Given the description of an element on the screen output the (x, y) to click on. 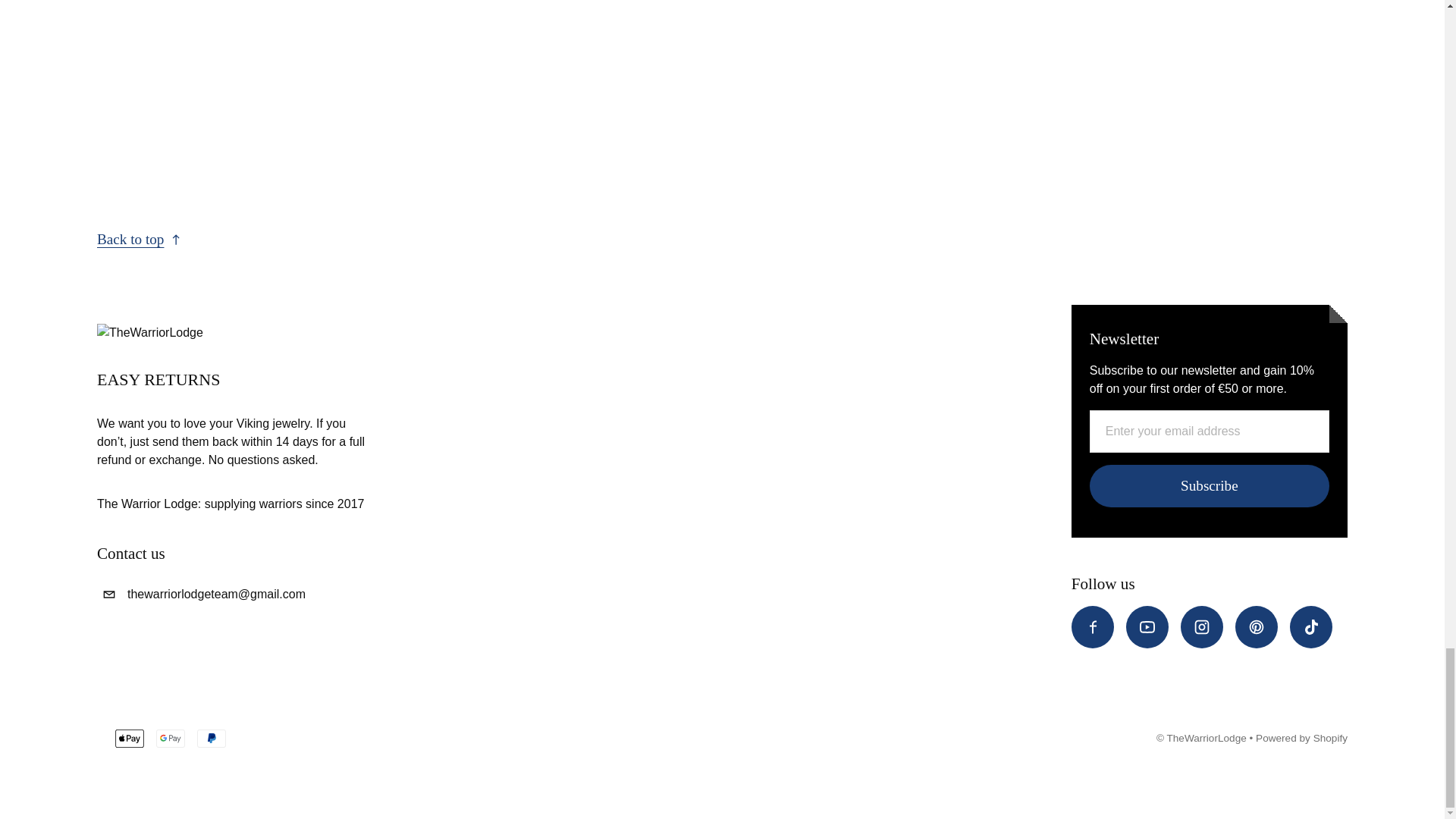
Instagram (1201, 627)
Pinterest (1256, 627)
Tiktok (1311, 627)
Youtube (1147, 627)
